Given the description of an element on the screen output the (x, y) to click on. 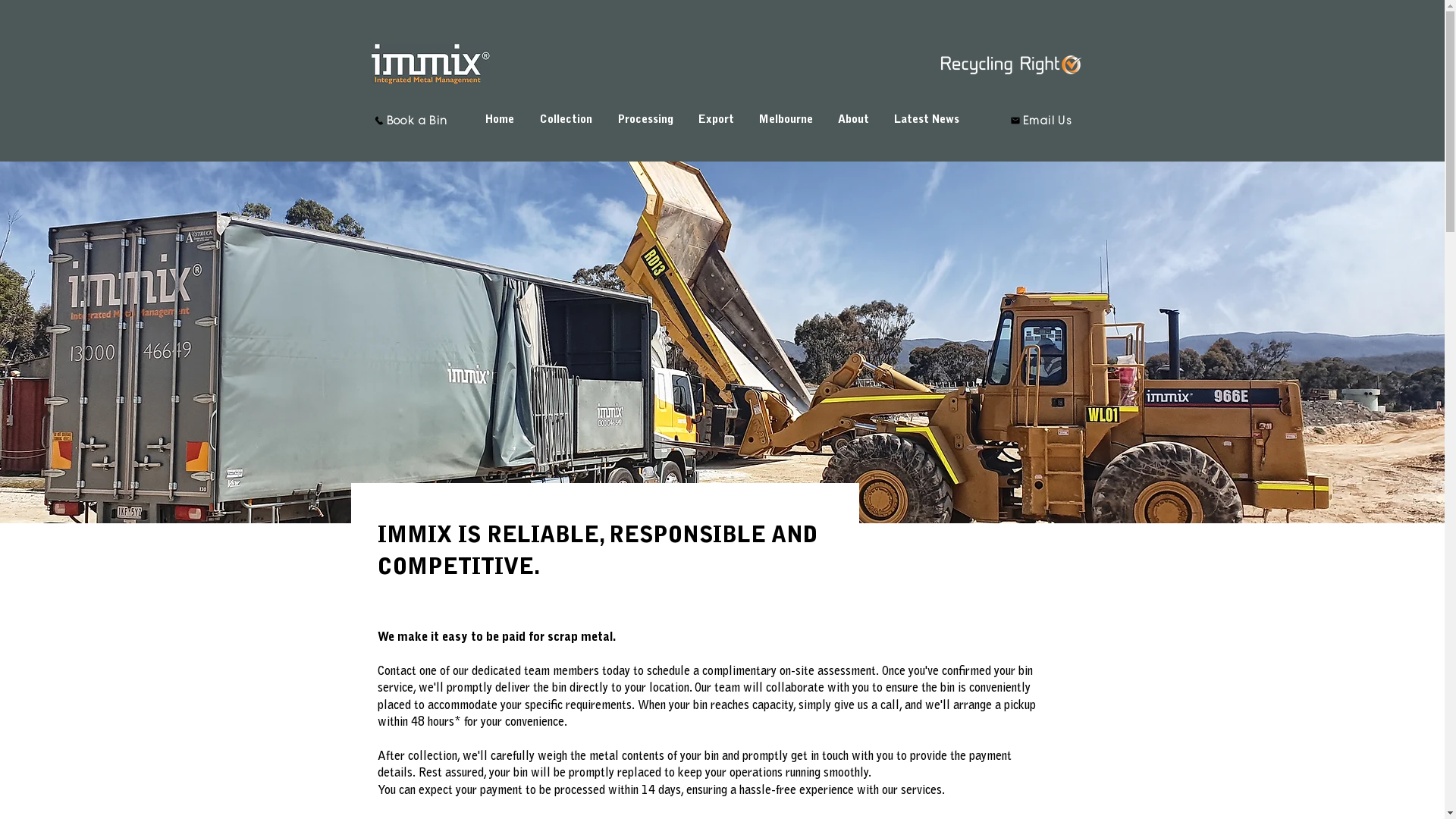
About Element type: text (853, 120)
Export Element type: text (715, 120)
Email Us Element type: text (1039, 120)
Melbourne Element type: text (785, 120)
Latest News Element type: text (926, 120)
Home Element type: text (500, 120)
Book a Bin Element type: text (410, 120)
Collection Element type: text (565, 120)
Processing Element type: text (645, 120)
